Given the description of an element on the screen output the (x, y) to click on. 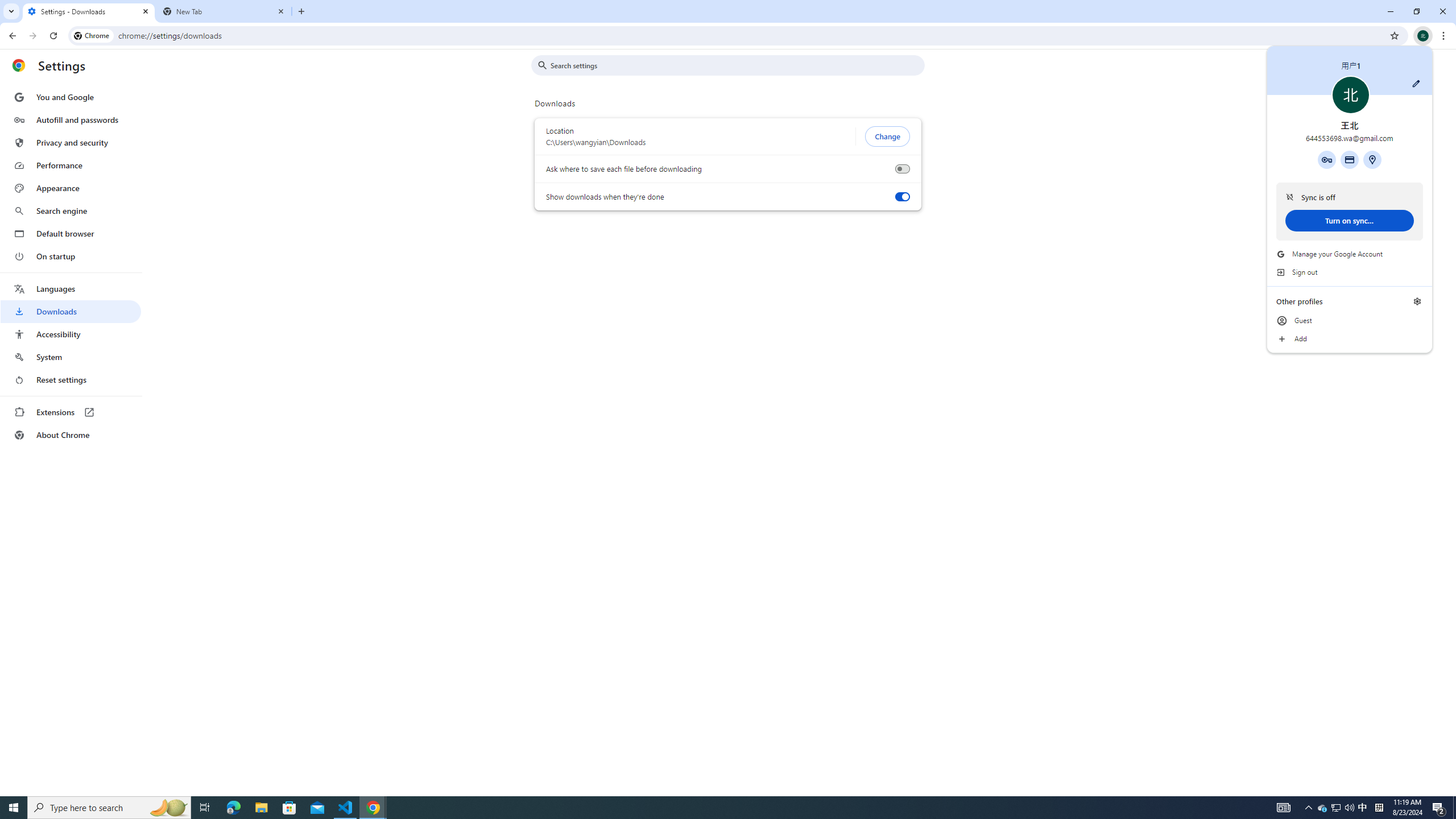
You and Google (70, 96)
About Chrome (70, 434)
Accessibility (70, 333)
Forward (32, 35)
Q2790: 100% (1349, 807)
Address and search bar (1362, 807)
AutomationID: menu (750, 35)
Action Center, 2 new notifications (71, 265)
Search tabs (1439, 807)
Privacy and security (10, 11)
Default browser (70, 142)
Addresses and more (1335, 807)
